Given the description of an element on the screen output the (x, y) to click on. 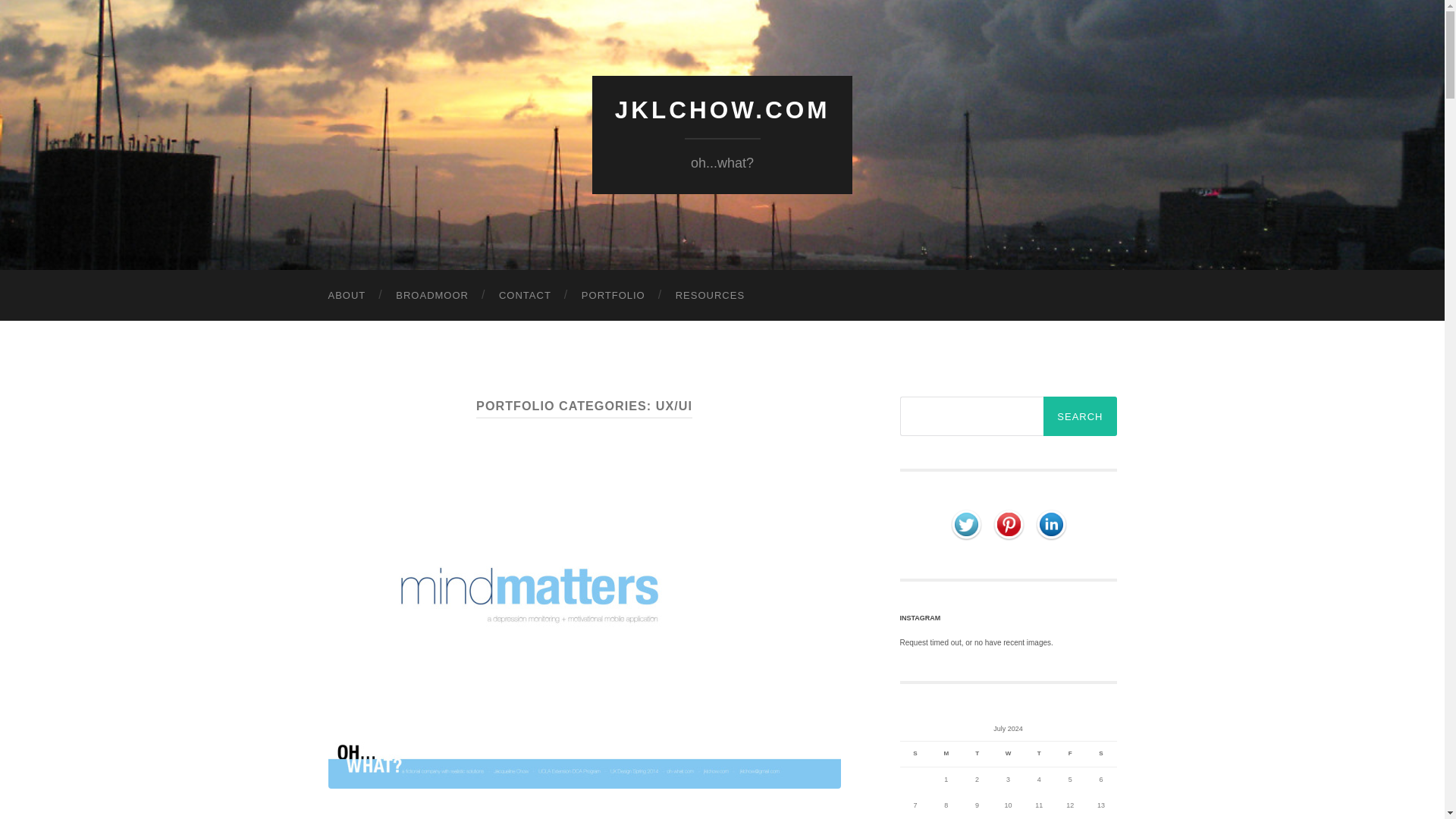
JKLCHOW.COM (721, 109)
Visit Us On Twitter (965, 524)
Monday (945, 754)
Search (1079, 415)
Tuesday (976, 754)
Visit Us On Pinterest (1008, 524)
Saturday (1101, 754)
RESOURCES (710, 295)
BROADMOOR (431, 295)
Visit Us On Linkedin (1050, 524)
Thursday (1038, 754)
ABOUT (346, 295)
Wednesday (1007, 754)
Sunday (914, 754)
CONTACT (524, 295)
